Given the description of an element on the screen output the (x, y) to click on. 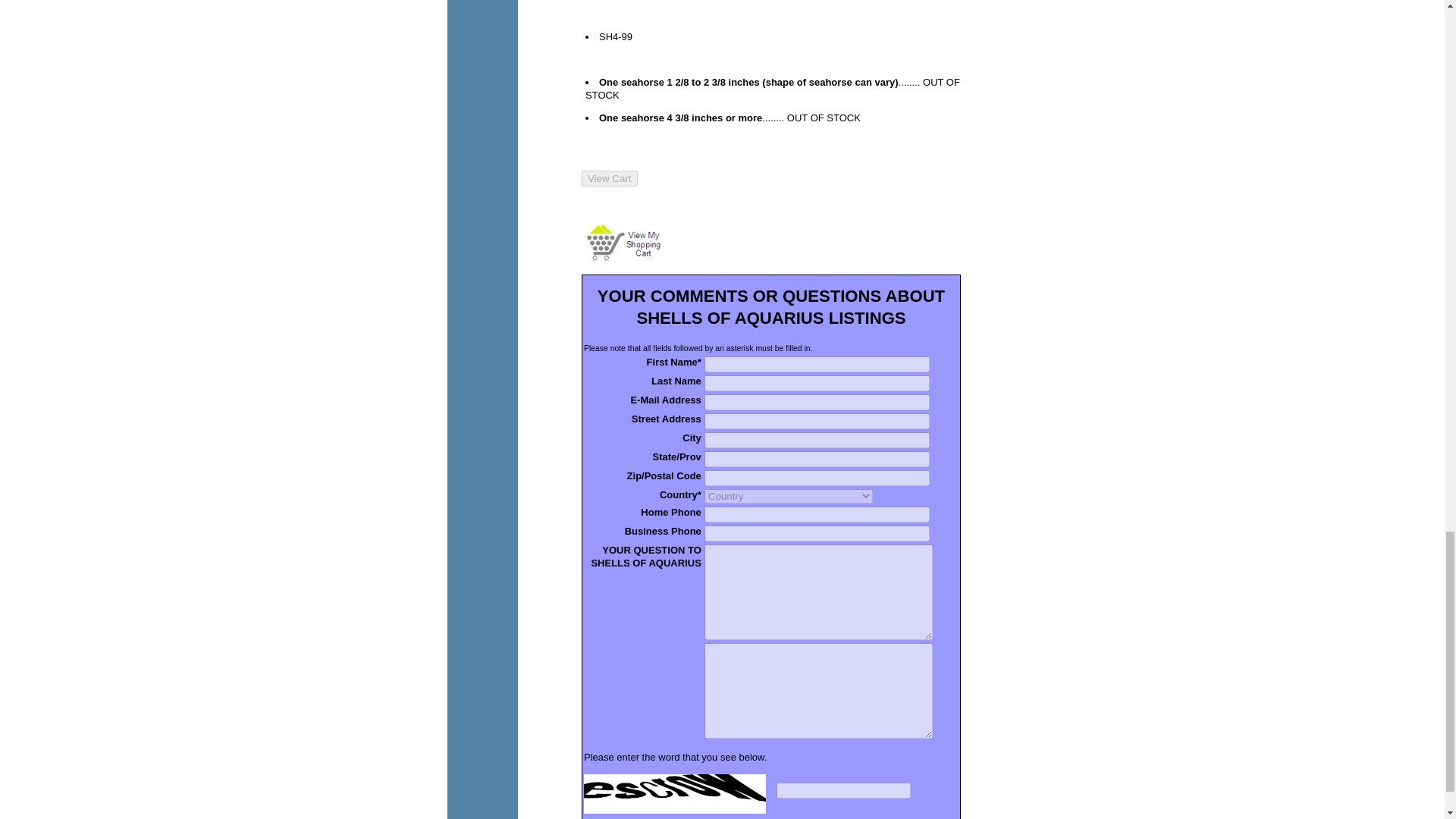
View Cart (608, 177)
View Cart (621, 243)
View Cart (608, 177)
